Given the description of an element on the screen output the (x, y) to click on. 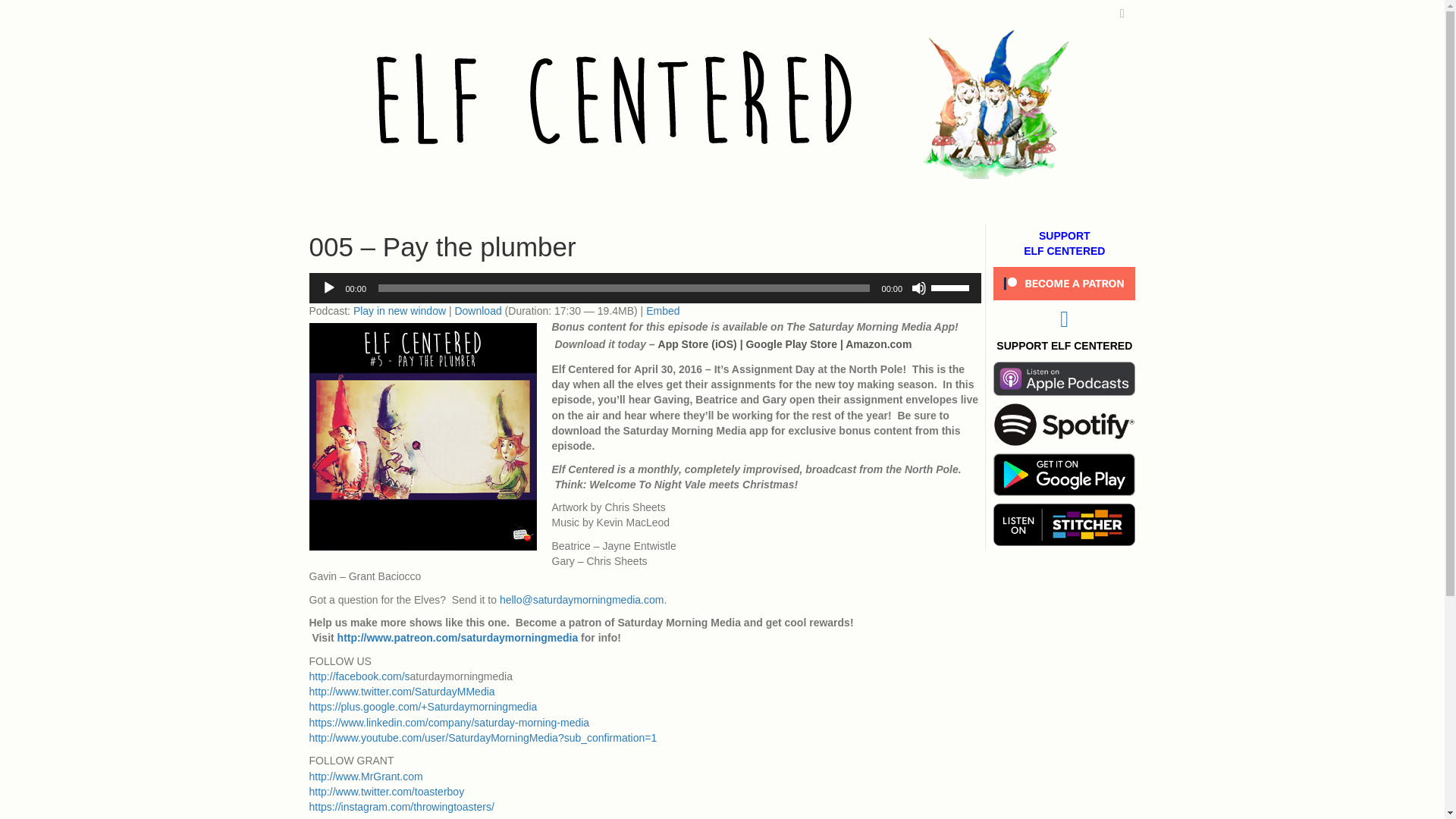
Play in new window (399, 310)
Elf Centered Banner (721, 103)
SUPPORT (1064, 235)
Play in new window (399, 310)
Download (477, 310)
Google Play Store (791, 344)
Embed (662, 310)
Print (1063, 378)
Mute (918, 287)
Play (328, 287)
Download (477, 310)
Embed (662, 310)
googleplaybadge300 (1063, 474)
Amazon.com (878, 344)
